Given the description of an element on the screen output the (x, y) to click on. 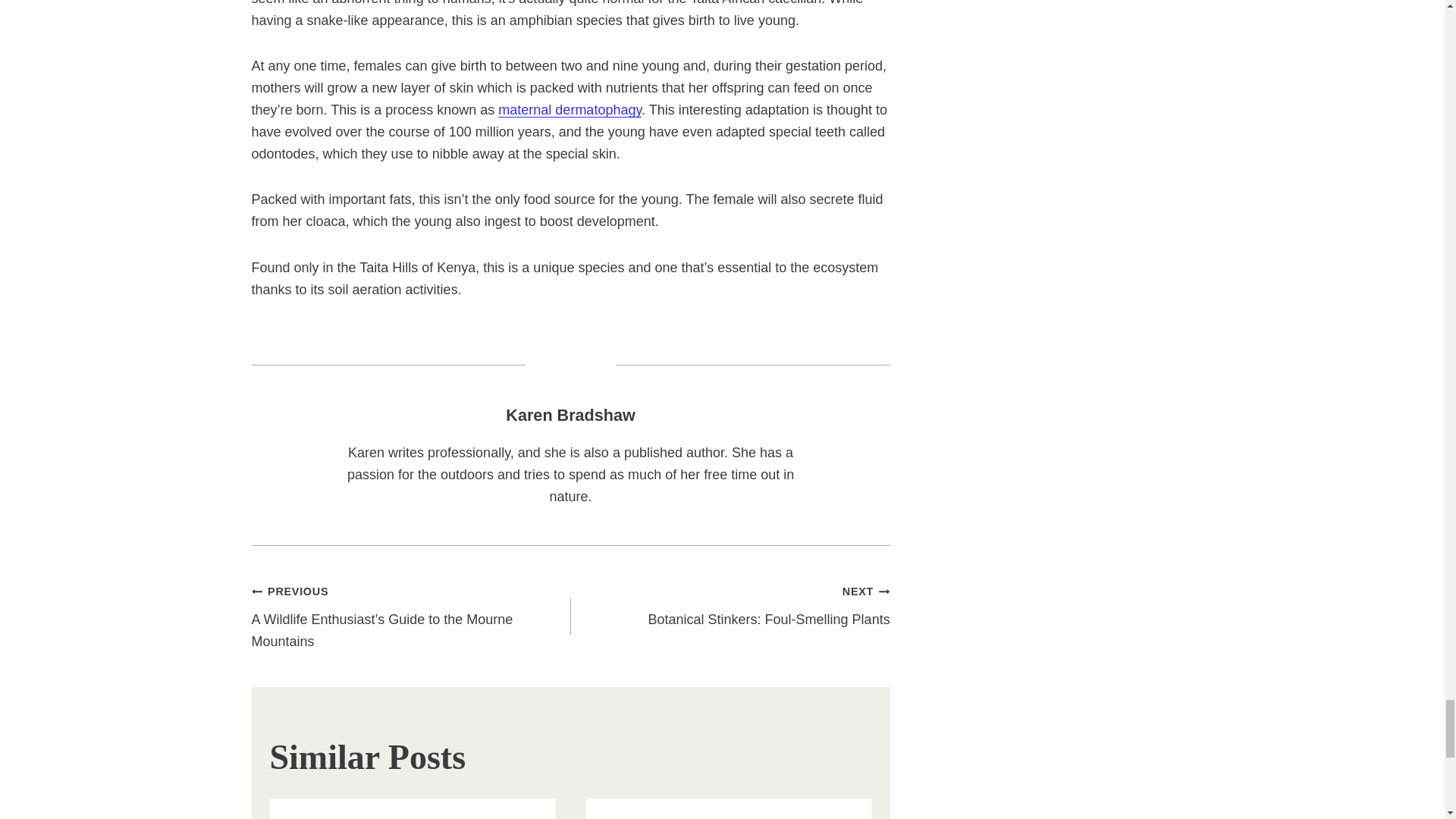
Posts by Karen Bradshaw (569, 415)
